Given the description of an element on the screen output the (x, y) to click on. 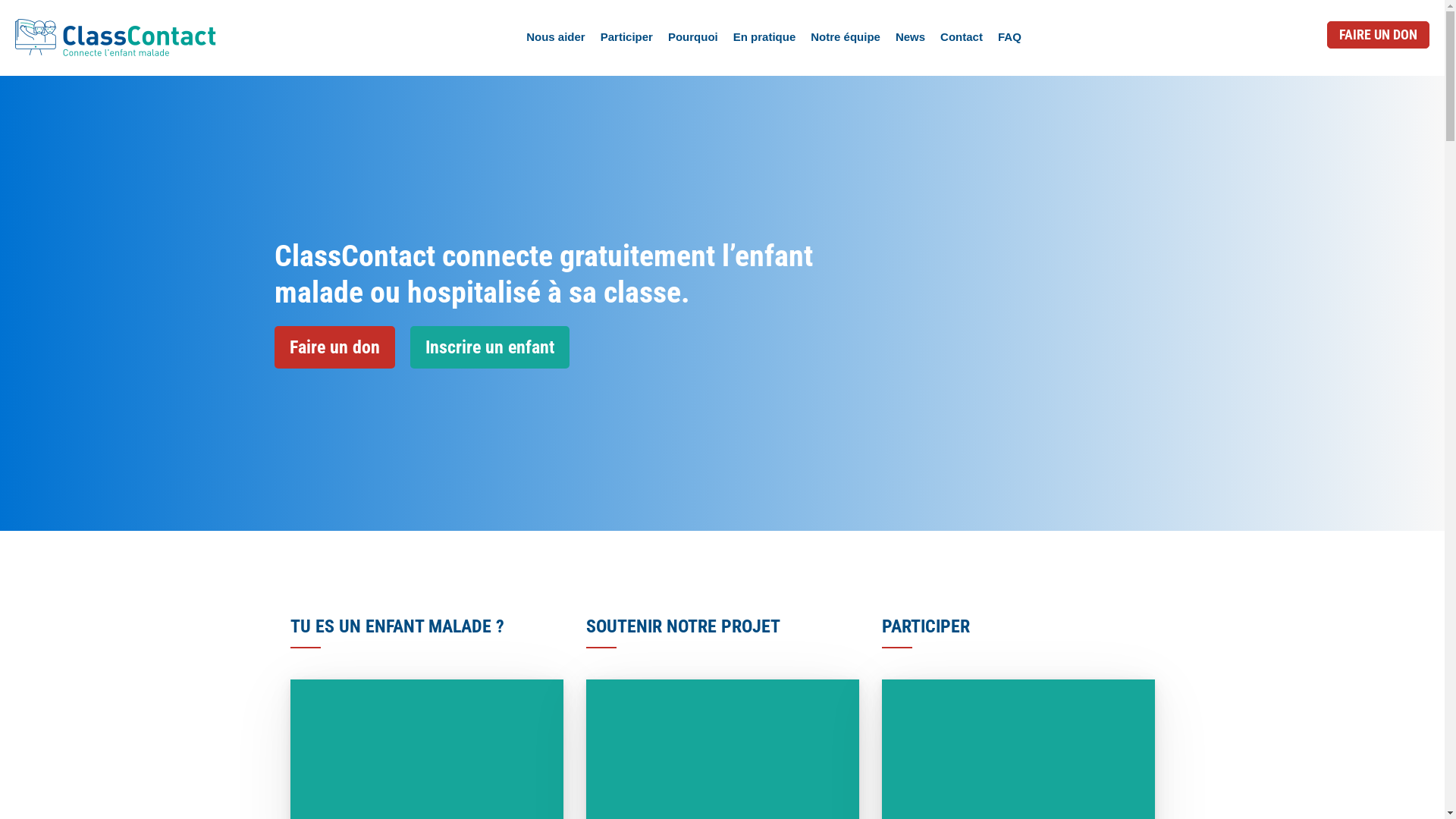
Class Contact Element type: text (115, 37)
Contact Element type: text (960, 36)
News Element type: text (909, 36)
Faire un don Element type: text (334, 347)
Participer Element type: text (625, 36)
FAQ Element type: text (1008, 36)
Inscrire un enfant Element type: text (489, 347)
Pourquoi Element type: text (692, 36)
En pratique Element type: text (763, 36)
Nous aider Element type: text (554, 36)
FAIRE UN DON Element type: text (1378, 34)
